Given the description of an element on the screen output the (x, y) to click on. 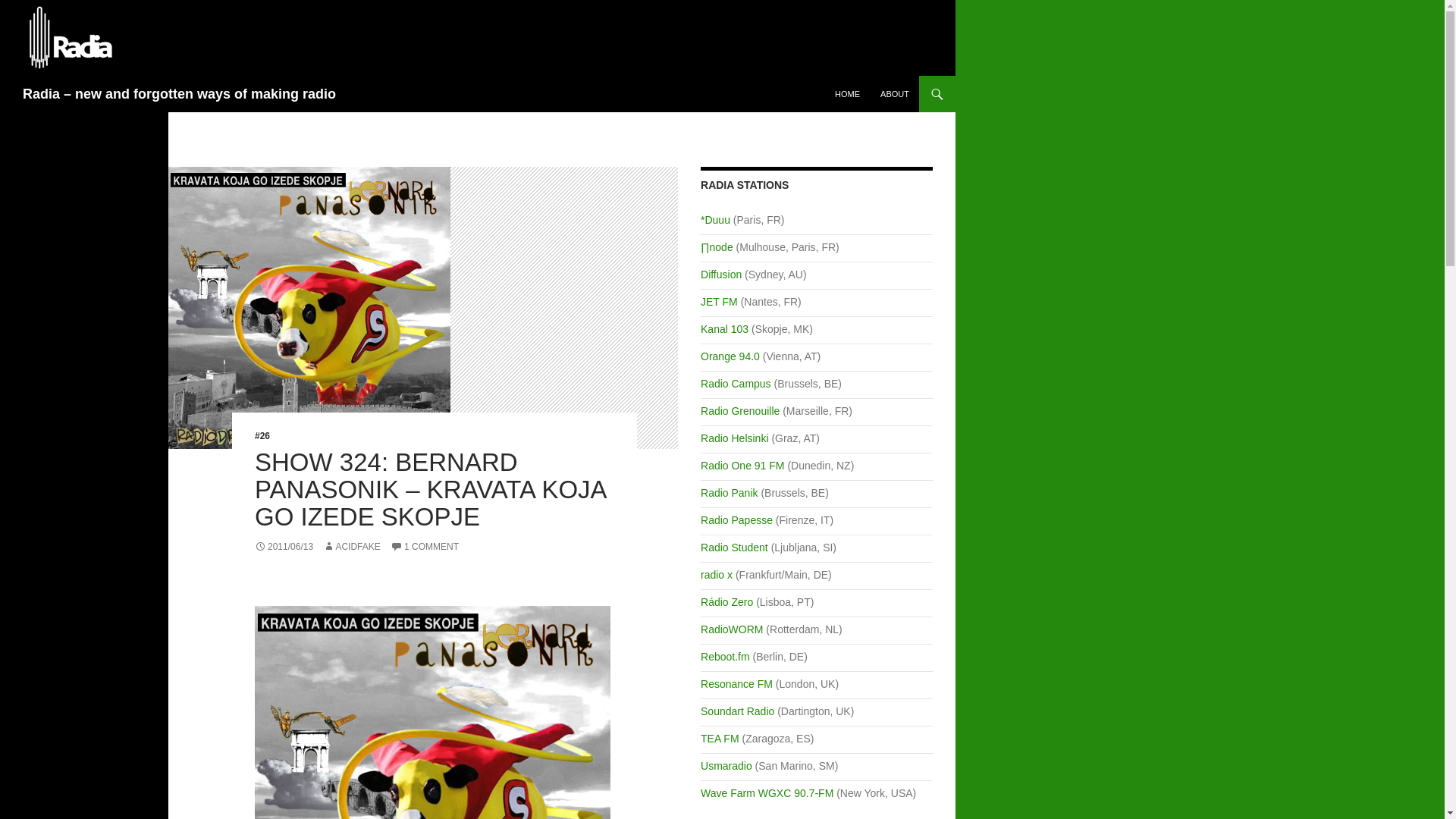
Diffusion (720, 274)
Radio Student (734, 547)
Resonance FM (736, 684)
Orange 94.0 (730, 356)
1 COMMENT (424, 546)
JET FM (719, 301)
Radio Panik (729, 492)
Radio Grenouille (739, 410)
